Given the description of an element on the screen output the (x, y) to click on. 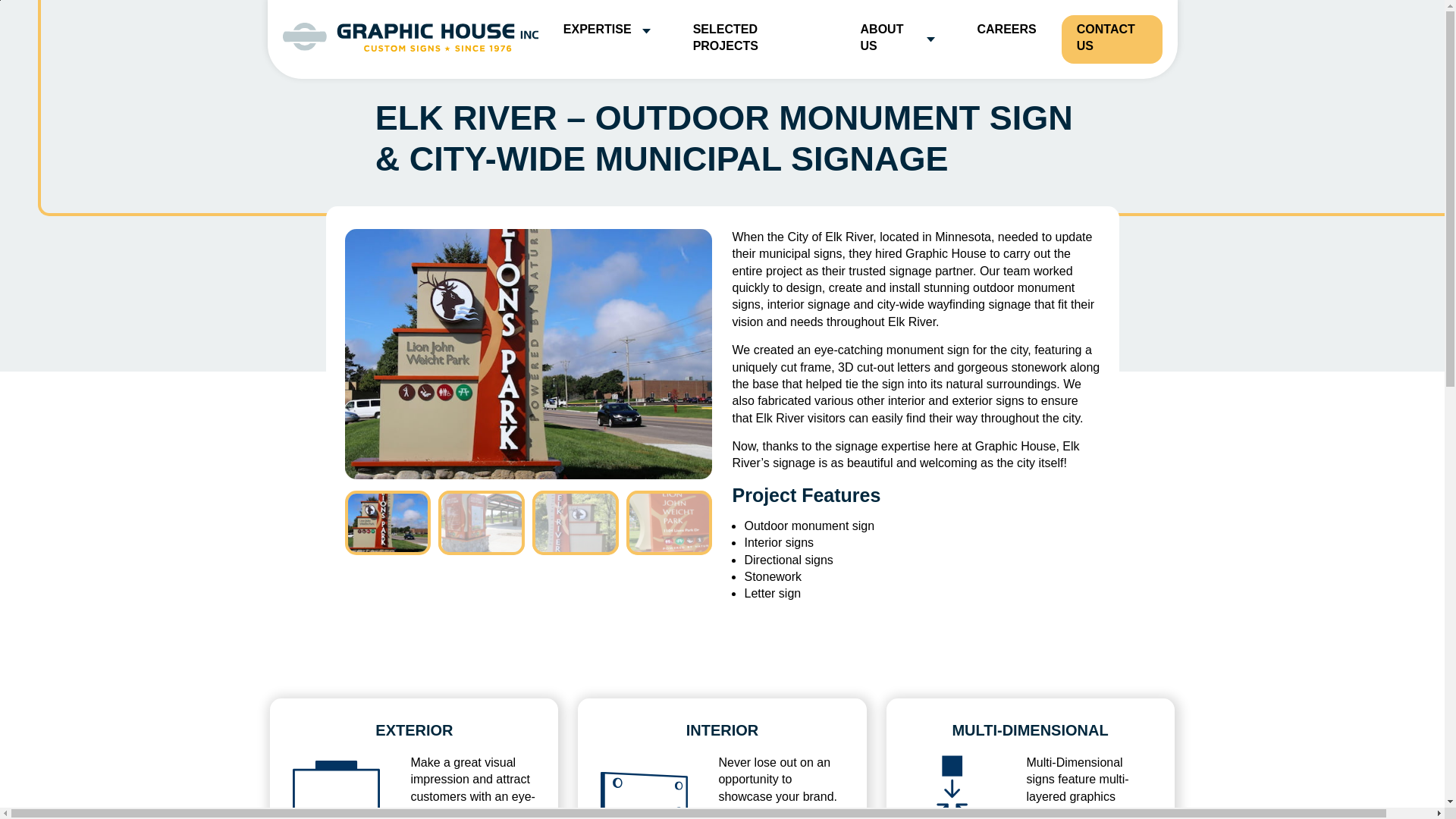
SELECTED PROJECTS (753, 39)
EXPERTISE (605, 30)
CAREERS (1005, 30)
ABOUT US (895, 39)
CONTACT US (1111, 39)
